Given the description of an element on the screen output the (x, y) to click on. 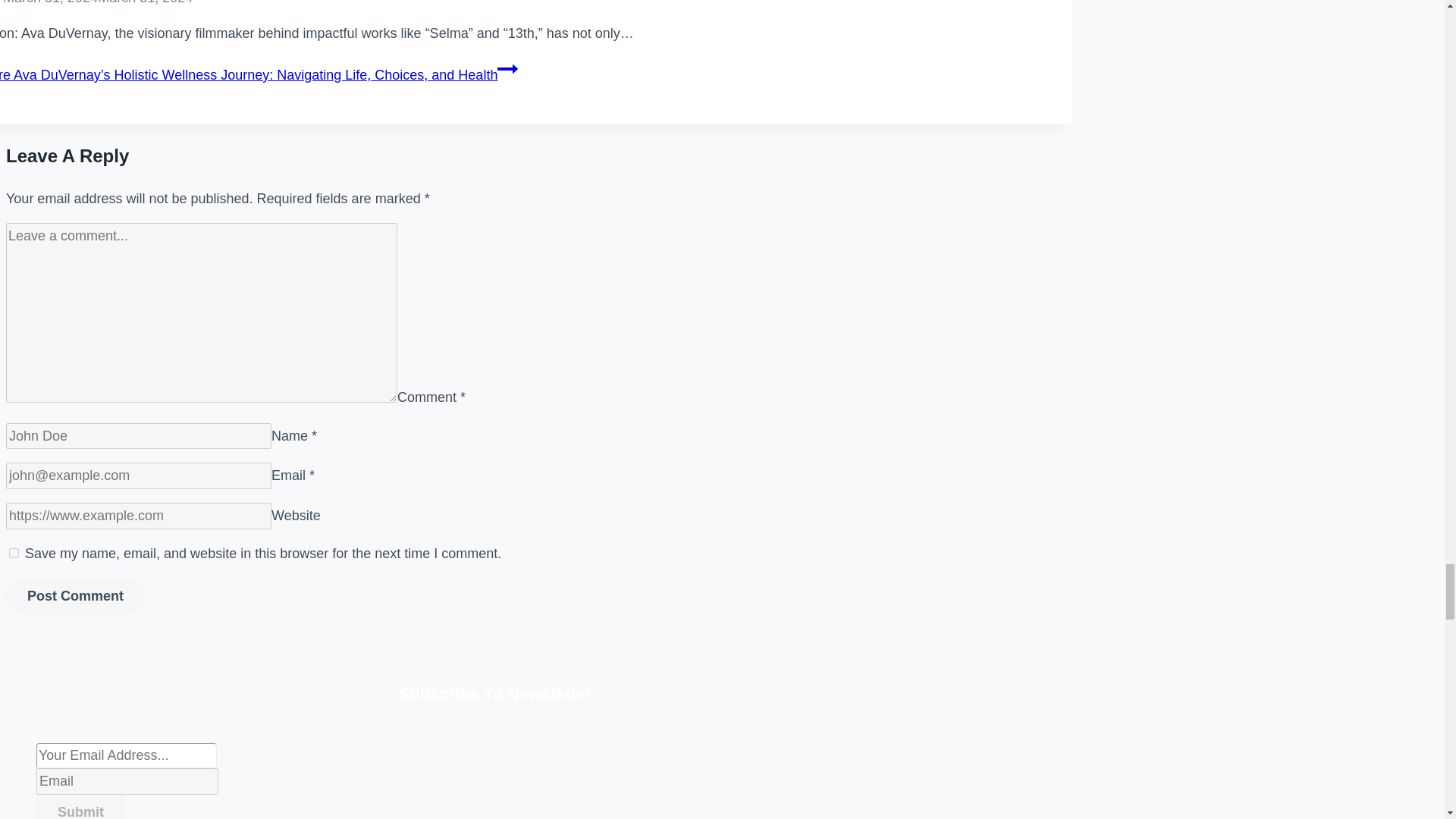
Post Comment (74, 596)
yes (13, 552)
